Given the description of an element on the screen output the (x, y) to click on. 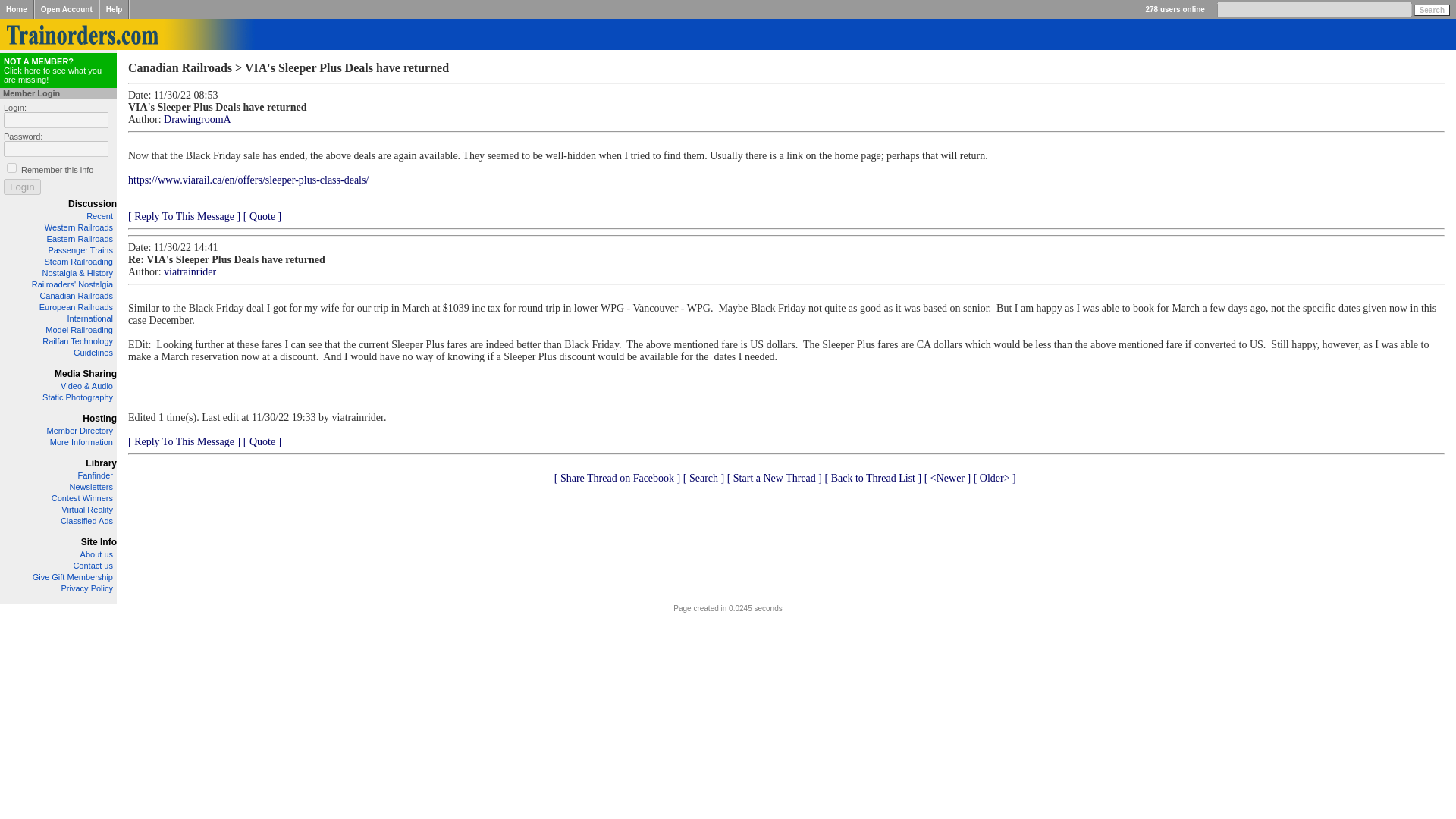
DrawingroomA (197, 119)
Login (22, 186)
Newsletters (91, 486)
1 (58, 70)
Contest Winners (11, 167)
Railfan Technology (81, 497)
Guidelines (77, 340)
European Railroads (93, 352)
Steam Railroading (76, 307)
